Given the description of an element on the screen output the (x, y) to click on. 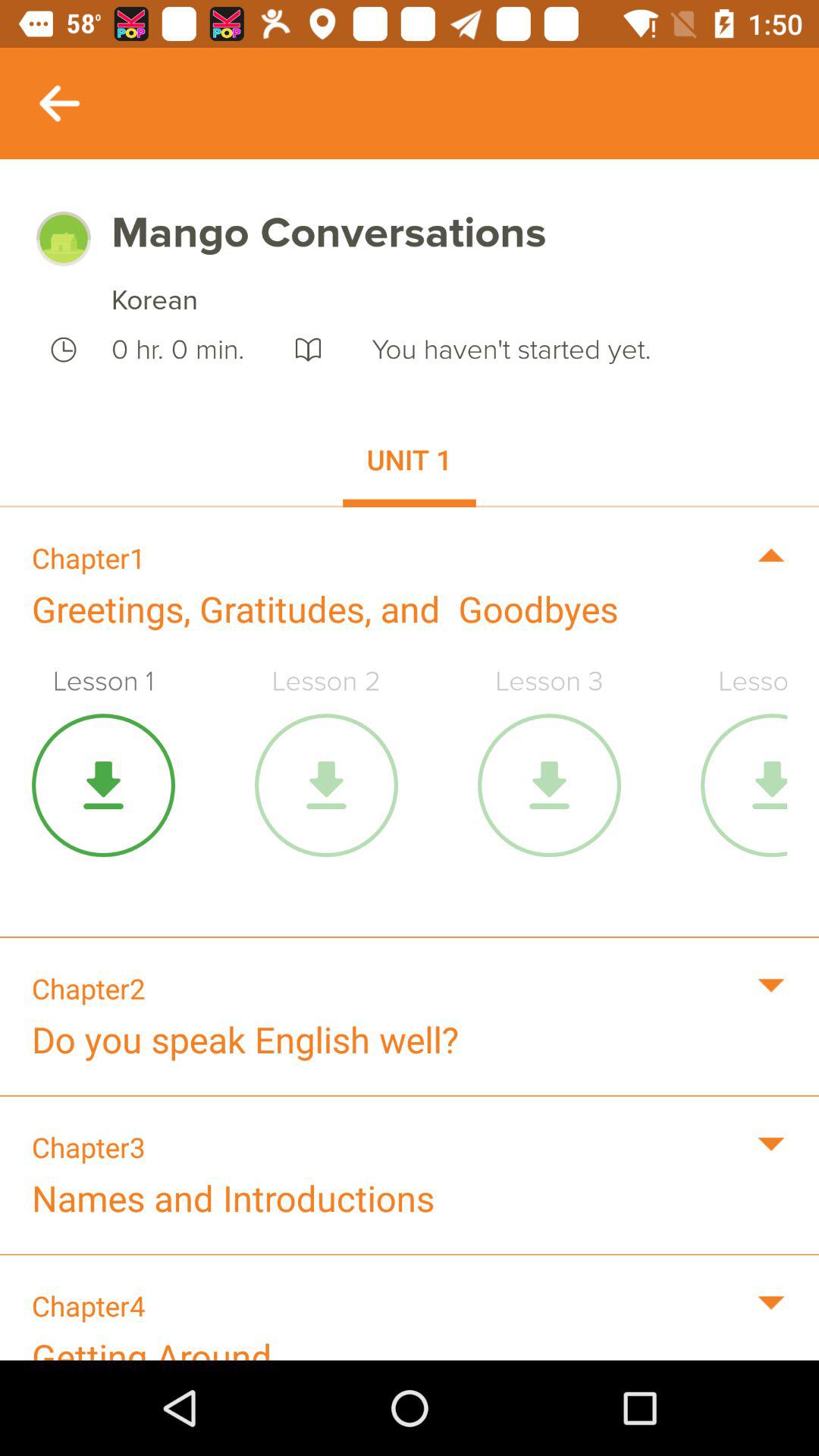
go to previous (59, 103)
